Given the description of an element on the screen output the (x, y) to click on. 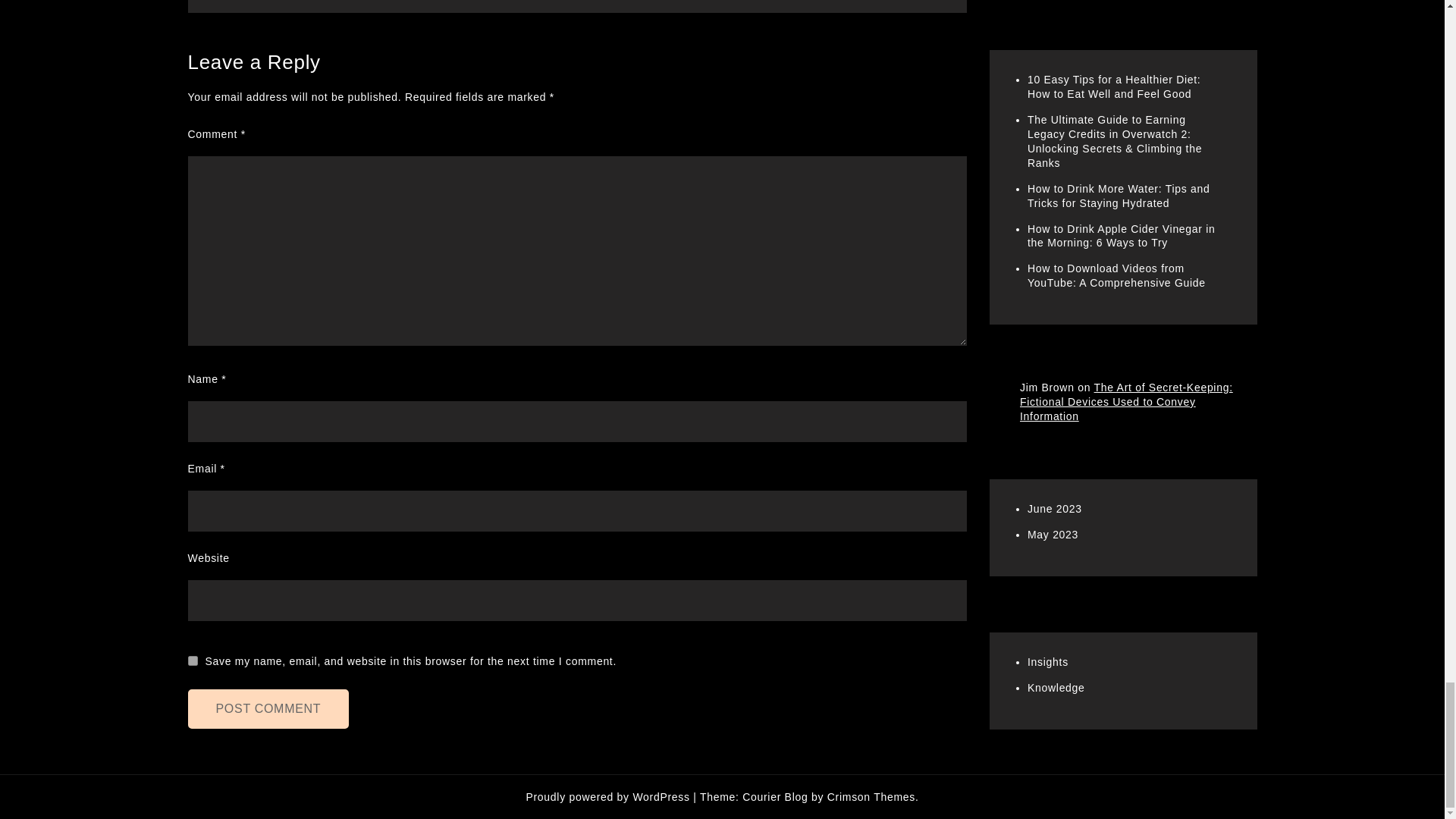
Post Comment (268, 708)
Post Comment (268, 708)
yes (192, 660)
